Given the description of an element on the screen output the (x, y) to click on. 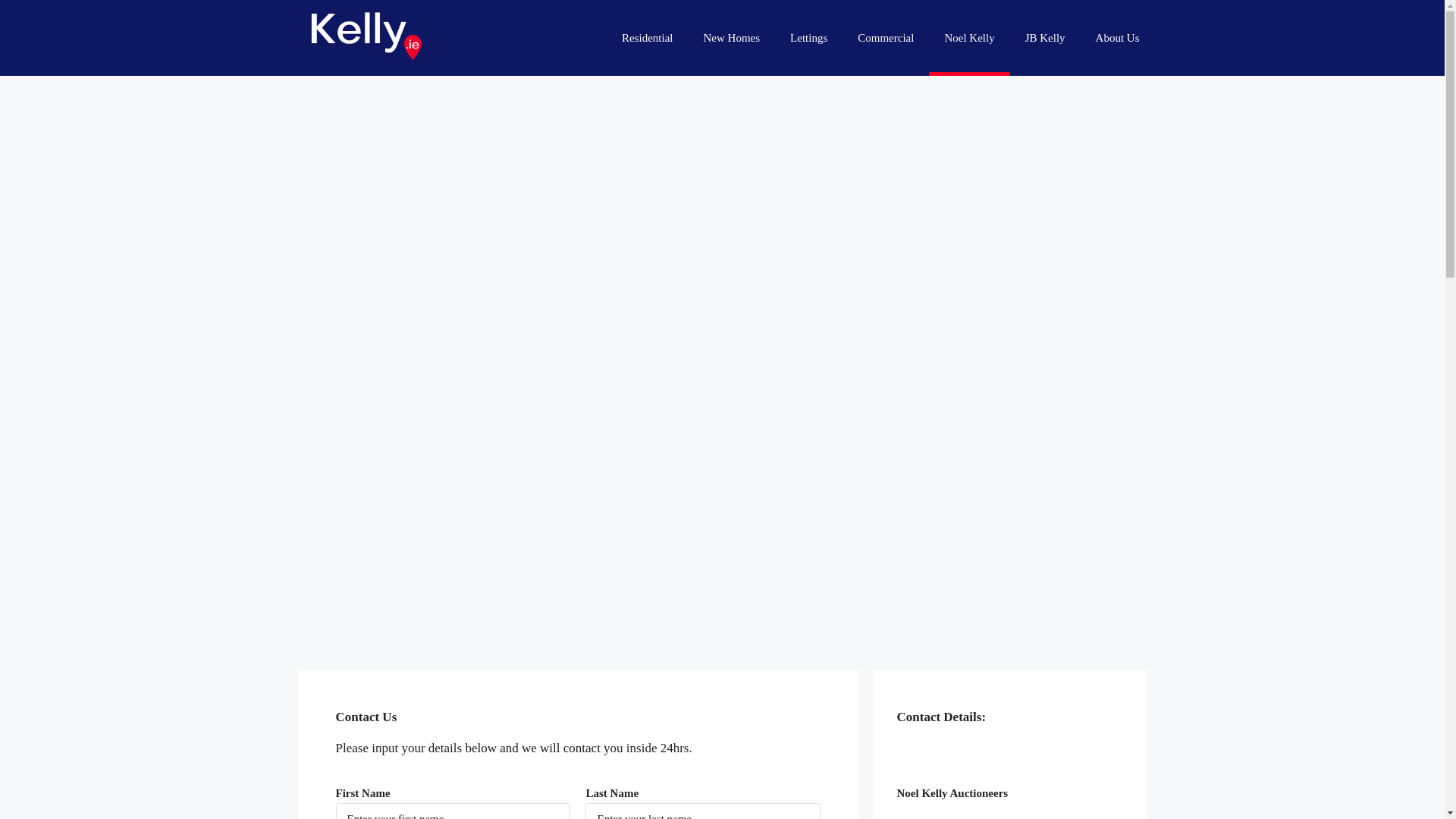
New Homes (732, 38)
Noel Kelly (968, 38)
Residential (647, 38)
About Us (1117, 38)
Lettings (808, 38)
Commercial (885, 38)
JB Kelly (1045, 38)
